Given the description of an element on the screen output the (x, y) to click on. 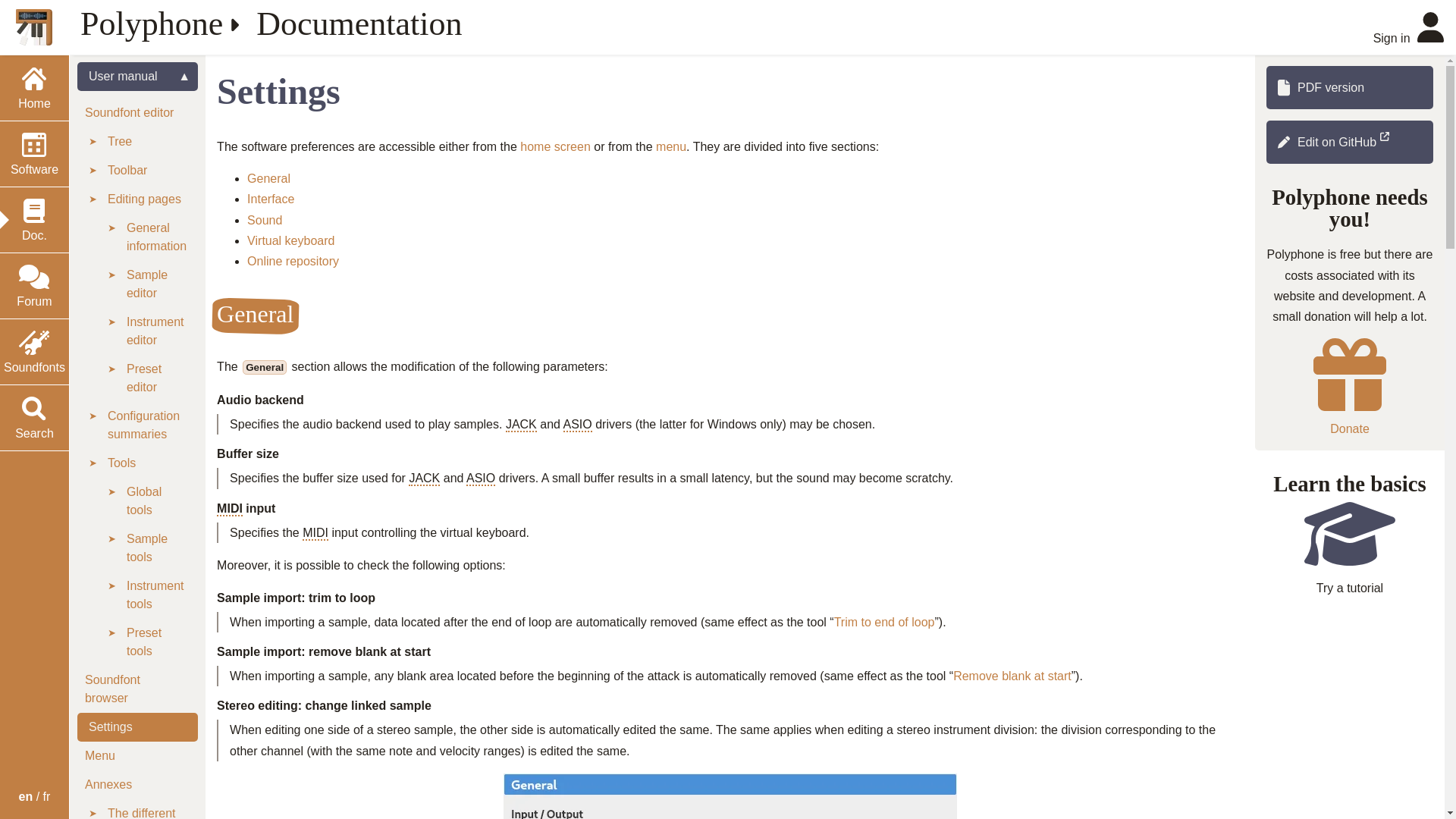
Sample tools (158, 547)
Toolbar (149, 170)
Software (34, 153)
Configuration summaries (149, 425)
Tools (149, 462)
Forum (34, 285)
Tree (149, 141)
User manual (137, 76)
Soundfonts (34, 351)
Search (34, 417)
Polyphone (151, 23)
Musical Instrument Digital Interface (315, 533)
JACK Audio Connection Kit (424, 478)
Annexes (137, 784)
General information (158, 237)
